Given the description of an element on the screen output the (x, y) to click on. 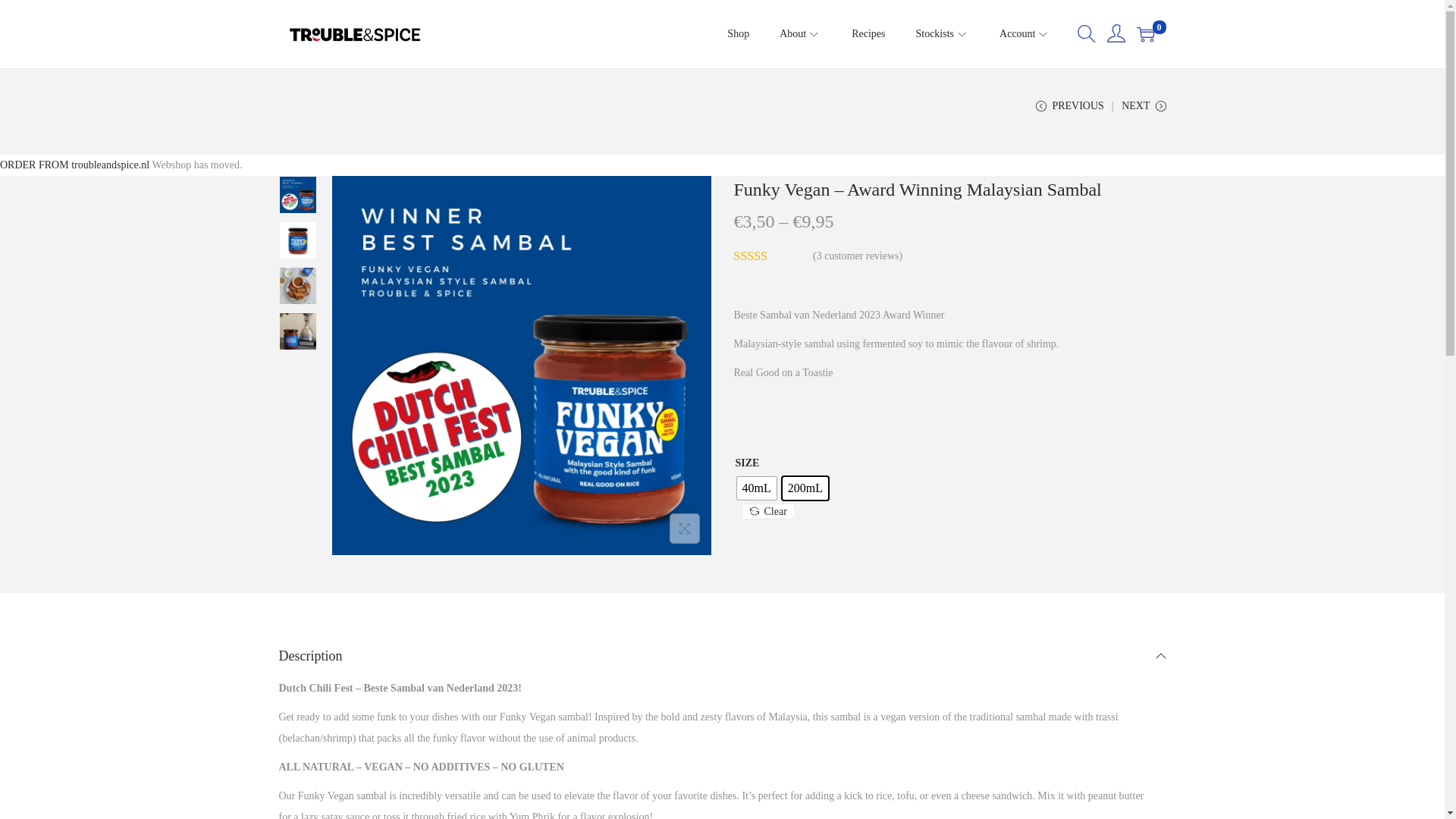
PREVIOUS (1069, 111)
0 (1144, 34)
ORDER FROM troubleandspice.nl (74, 164)
Clear (767, 511)
200mL (805, 487)
NEXT (1143, 111)
40mL (756, 487)
